Given the description of an element on the screen output the (x, y) to click on. 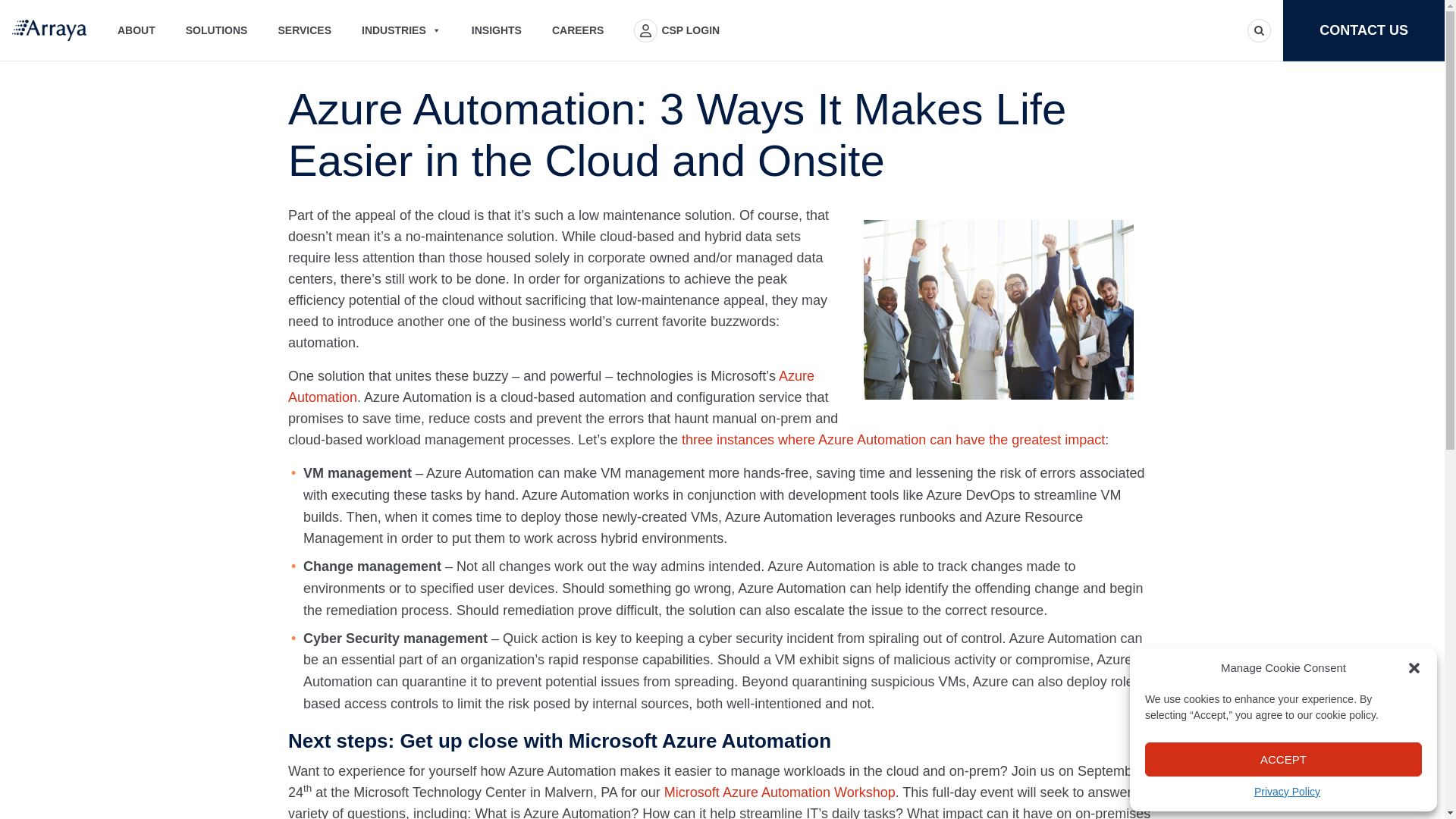
ACCEPT (1283, 759)
SOLUTIONS (216, 30)
ABOUT (136, 30)
Privacy Policy (1286, 791)
